Given the description of an element on the screen output the (x, y) to click on. 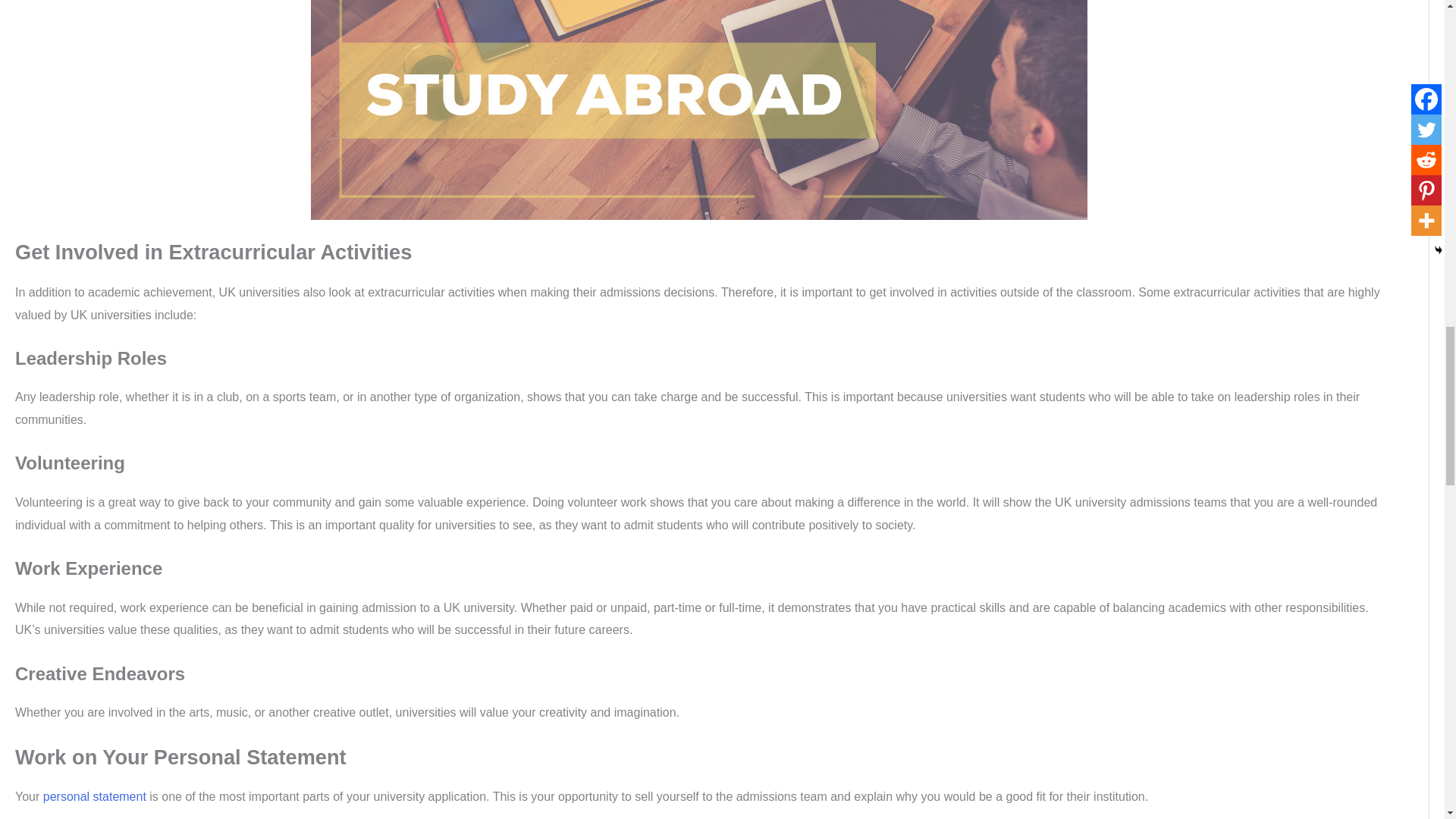
personal statement (95, 796)
